Given the description of an element on the screen output the (x, y) to click on. 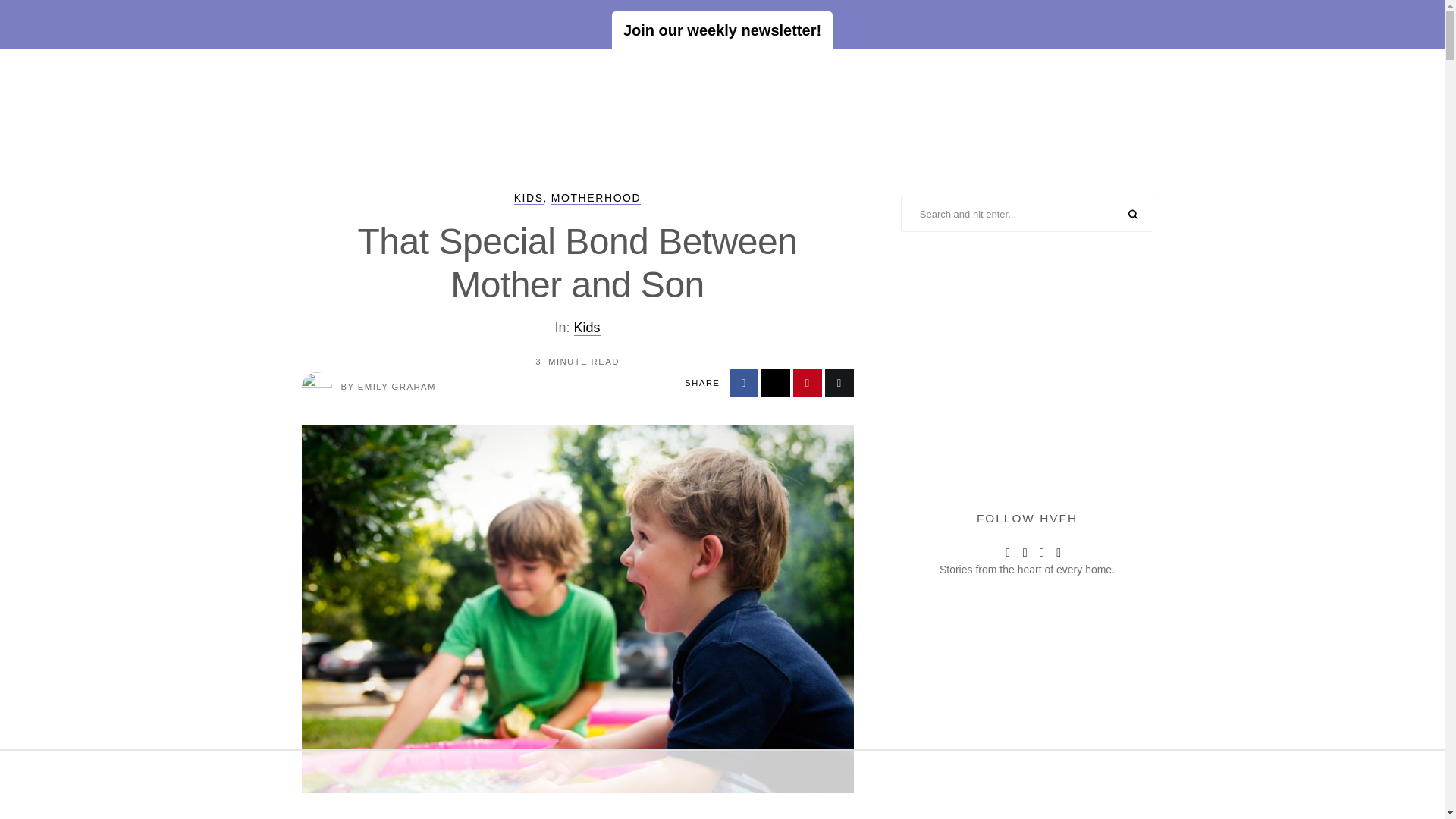
Share by Email (839, 382)
Share on Facebook (743, 382)
Share on Pinterest (807, 382)
SEARCH (1133, 214)
Share on X (775, 382)
